Given the description of an element on the screen output the (x, y) to click on. 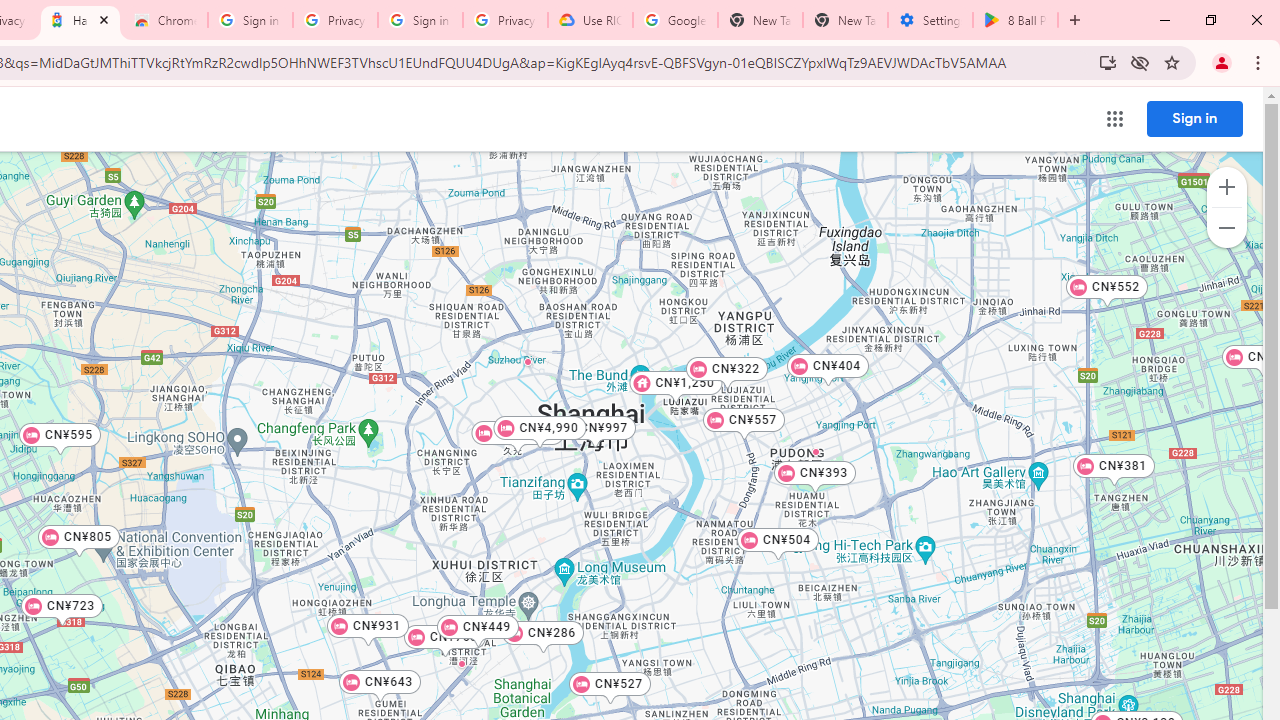
New Tab (845, 20)
Chrome Web Store - Color themes by Chrome (165, 20)
Sign in - Google Accounts (420, 20)
Junting Hotel (460, 663)
Z Hotel (612, 421)
